Given the description of an element on the screen output the (x, y) to click on. 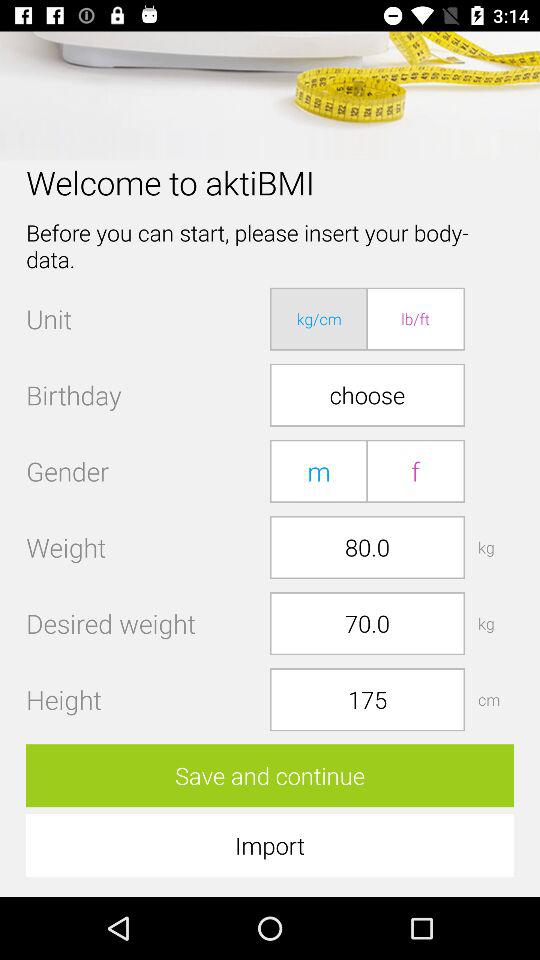
tap item next to the birthday app (367, 394)
